Given the description of an element on the screen output the (x, y) to click on. 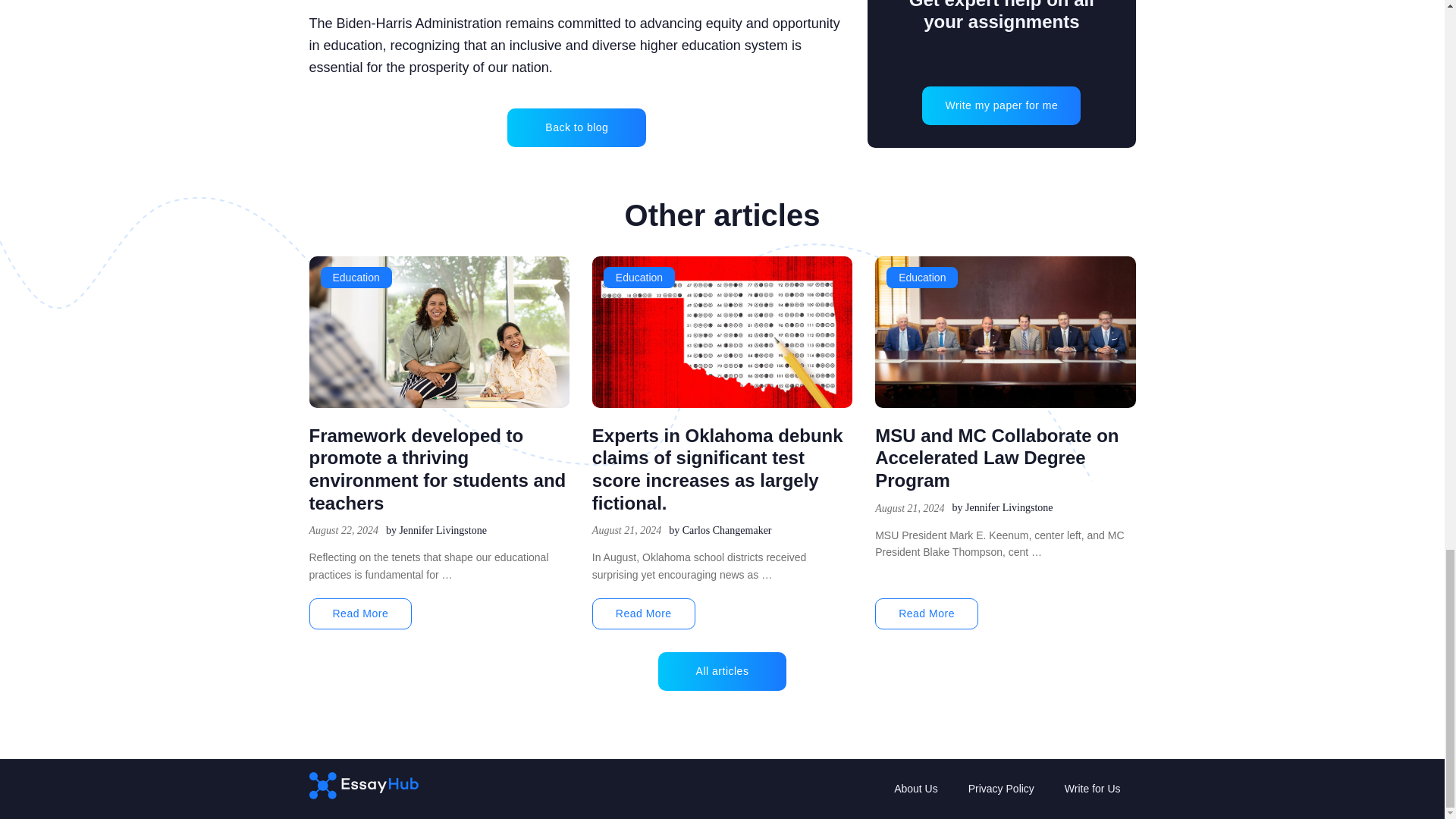
Read More (360, 613)
Write for Us (1092, 788)
Read More (926, 613)
All articles (722, 671)
Read More (643, 613)
About Us (916, 788)
MSU and MC Collaborate on Accelerated Law Degree Program (996, 457)
Education (922, 277)
by Jennifer Livingstone (1002, 508)
